Given the description of an element on the screen output the (x, y) to click on. 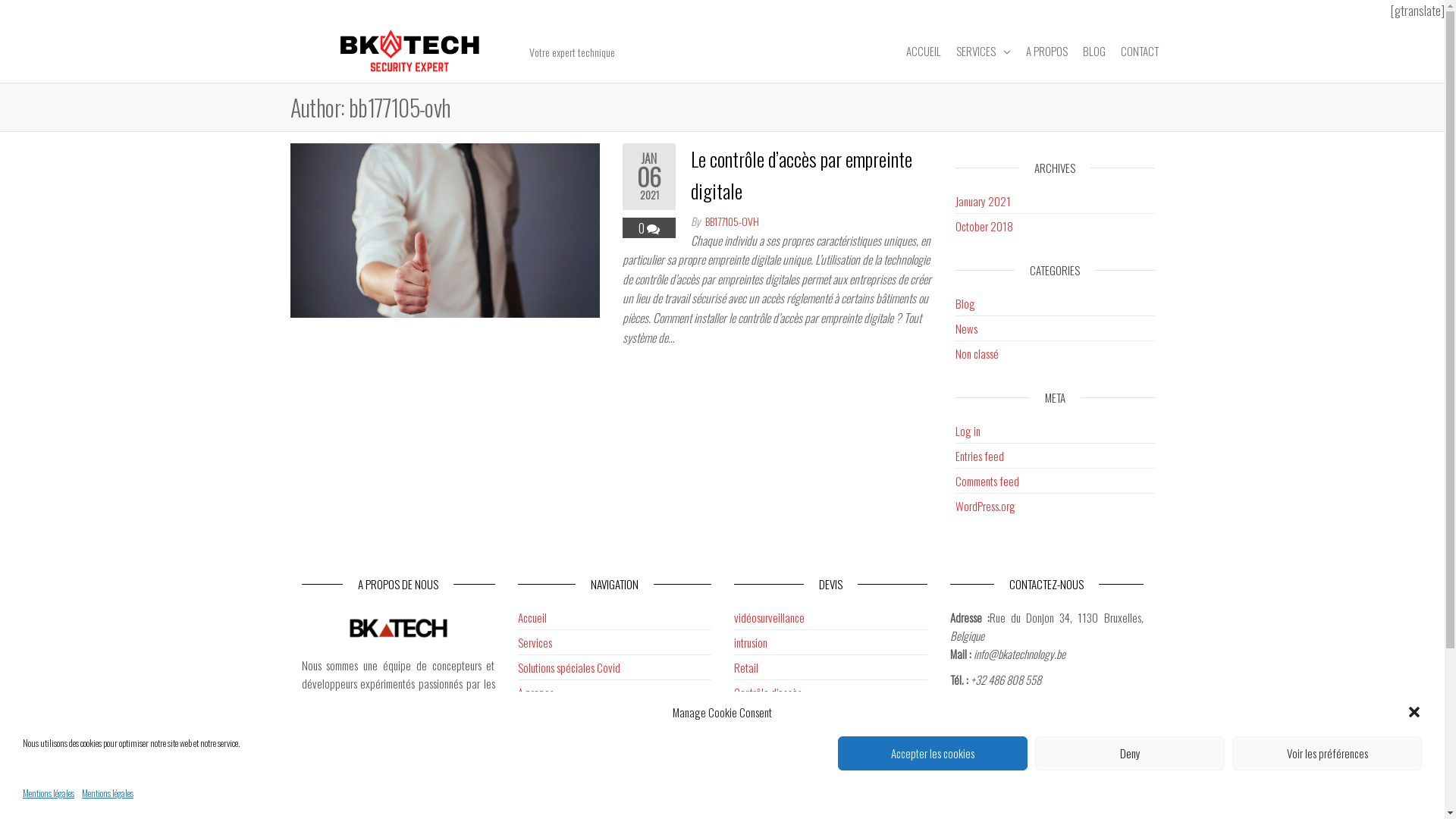
Log in Element type: text (967, 430)
January 2021 Element type: text (982, 200)
BLOG Element type: text (1094, 50)
A propos Element type: text (534, 692)
ACCUEIL Element type: text (922, 50)
WordPress.org Element type: text (985, 505)
Deny Element type: text (1129, 753)
atsApp Element type: text (1025, 704)
Accueil Element type: text (531, 616)
Wh Element type: text (1003, 704)
SERVICES Element type: text (982, 51)
intrusion Element type: text (750, 641)
Retail Element type: text (746, 666)
CONTACT Element type: text (1139, 50)
Comments feed Element type: text (987, 480)
A PROPOS Element type: text (1045, 50)
BB177105-OVH Element type: text (732, 221)
Facebook Element type: text (969, 704)
October 2018 Element type: text (984, 225)
News Element type: text (966, 328)
Blog Element type: text (965, 302)
Obtenez votre devis ! Element type: text (776, 742)
Entries feed Element type: text (979, 455)
Contact Element type: text (1063, 704)
Blog Element type: text (526, 717)
Services Element type: text (534, 641)
0 Element type: text (642, 227)
Contact & devis Element type: text (549, 742)
Accepter les cookies Element type: text (932, 753)
